Given the description of an element on the screen output the (x, y) to click on. 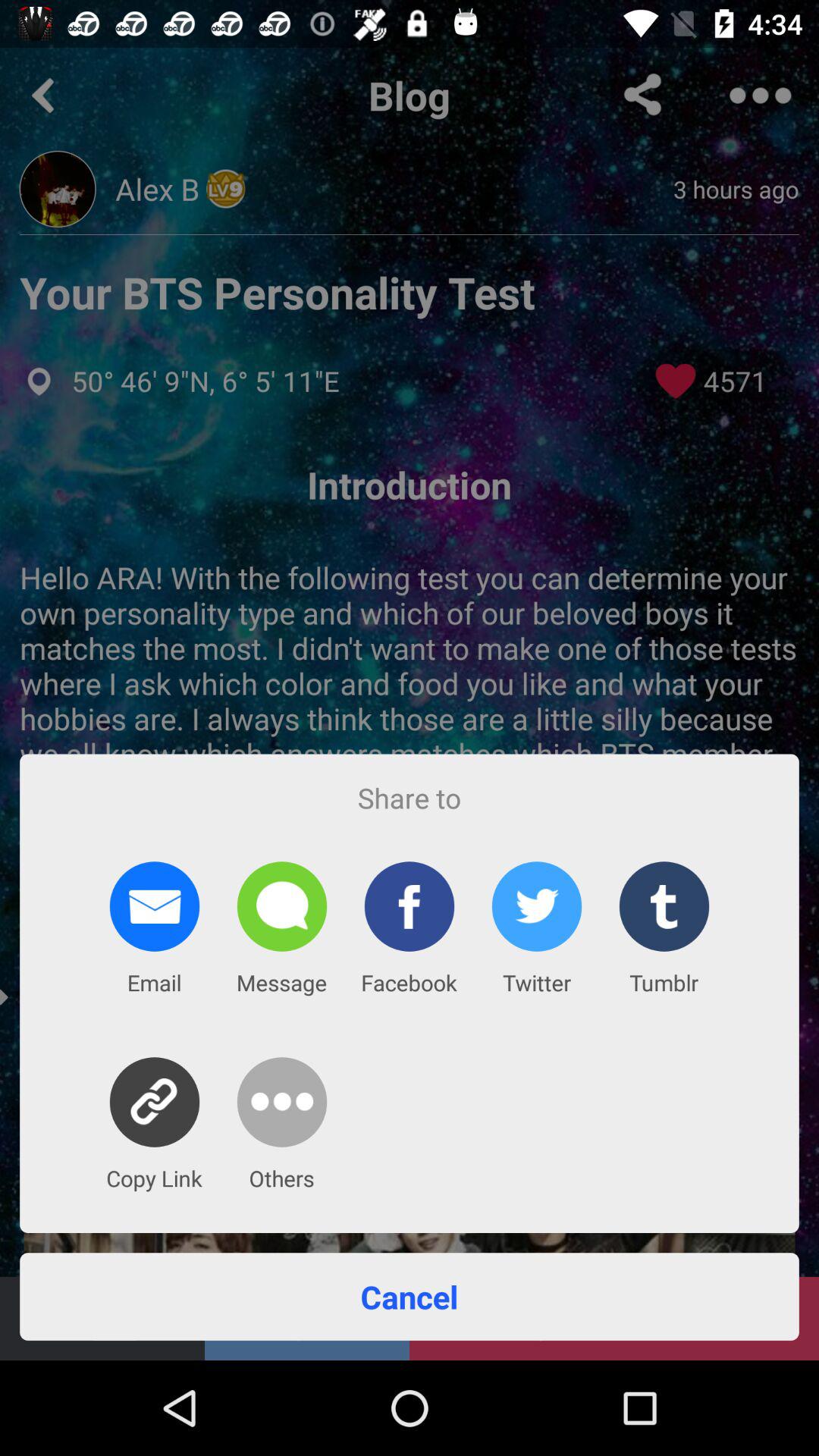
select email icon on the page (154, 906)
select the symbol which is immediately above others (281, 1102)
click on the icon which is above the text copy link (154, 1102)
select the cancel button which is on the bottom of the page (409, 1296)
